Given the description of an element on the screen output the (x, y) to click on. 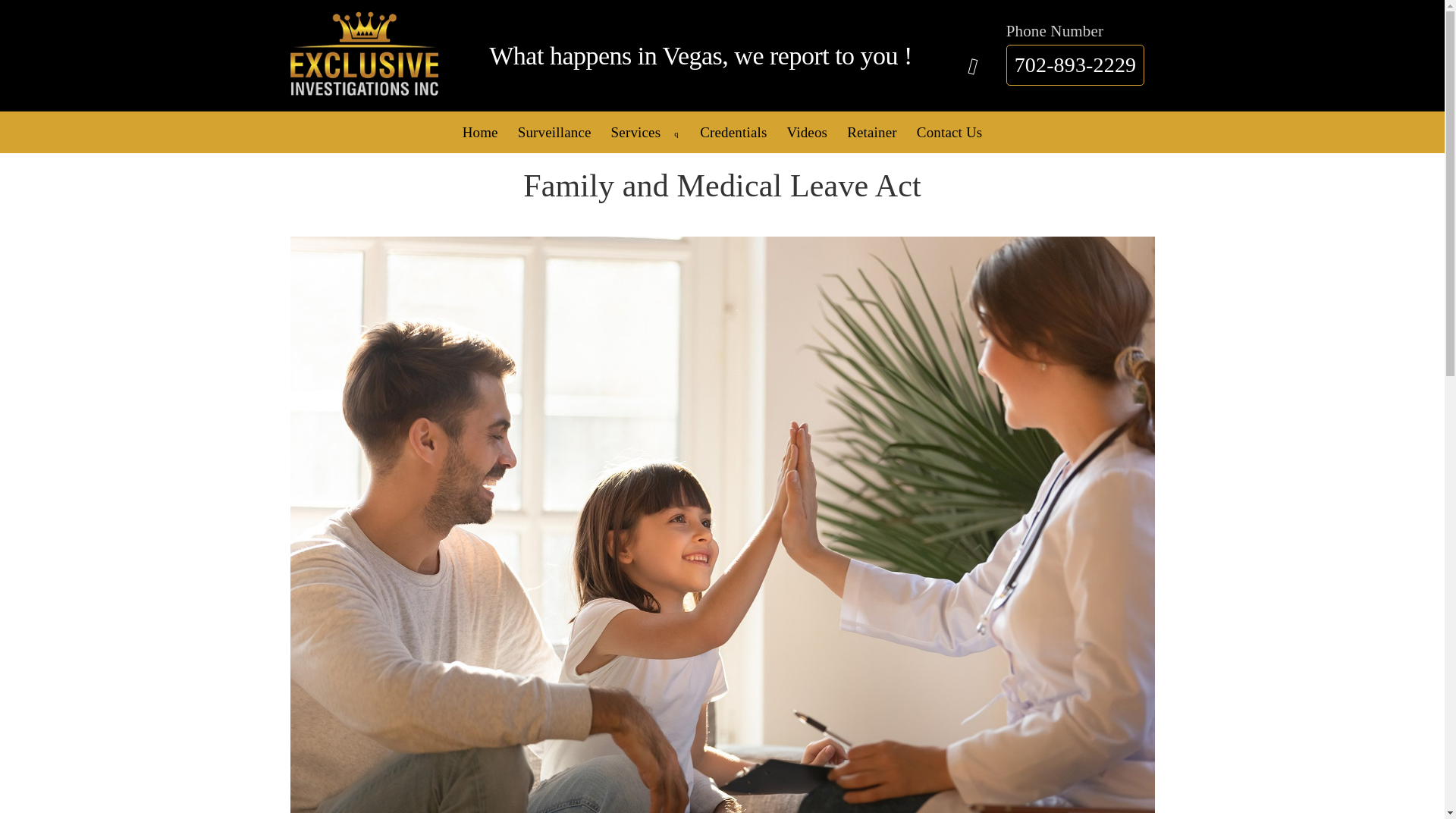
Services (645, 132)
Home (480, 132)
702-893-2229 (1075, 65)
Retainer (872, 132)
Contact Us (949, 132)
Credentials (733, 132)
Surveillance (554, 132)
Videos (806, 132)
